Given the description of an element on the screen output the (x, y) to click on. 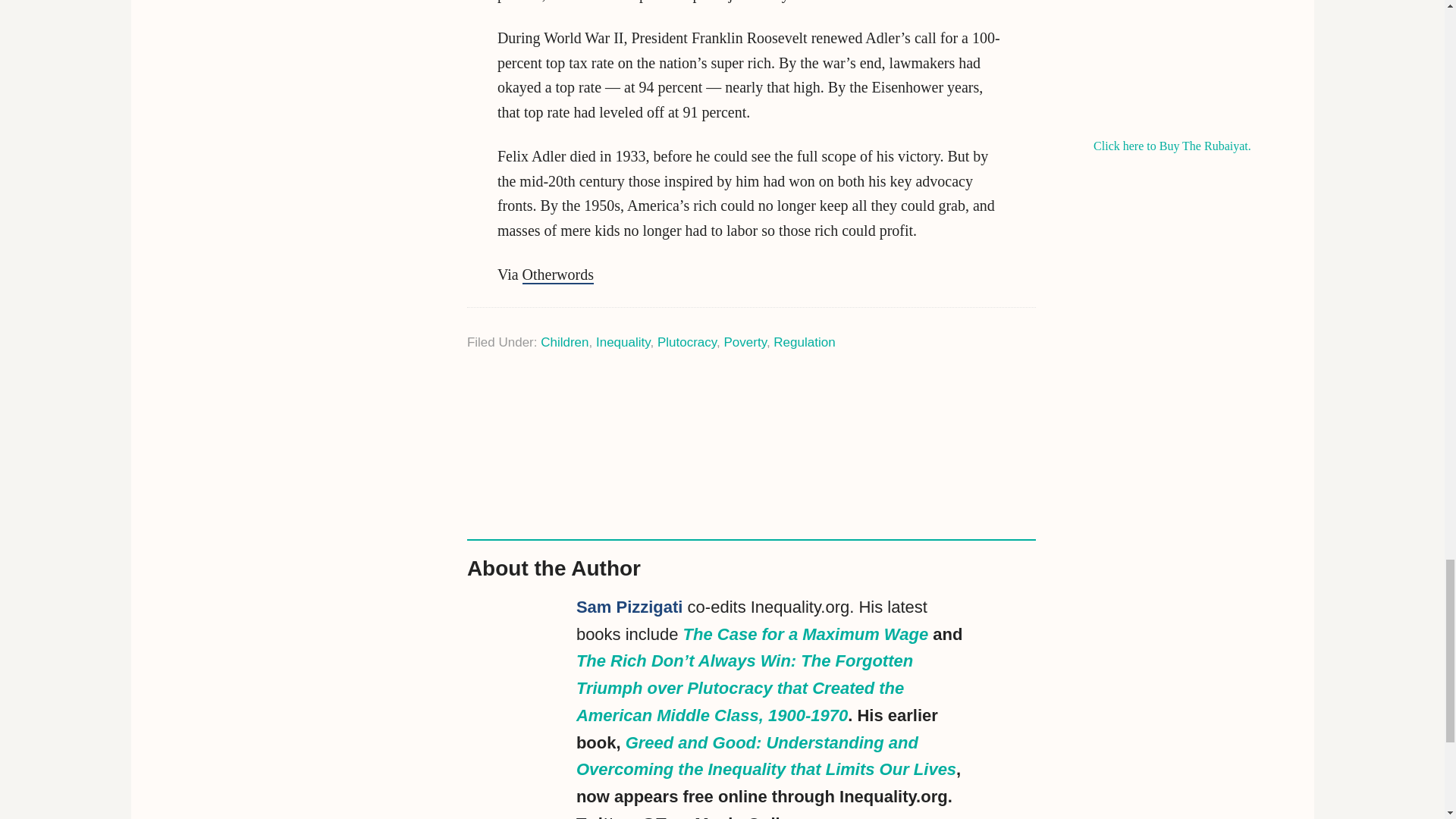
Plutocracy (687, 341)
Otherwords (558, 275)
Inequality (622, 341)
Children (564, 341)
